Given the description of an element on the screen output the (x, y) to click on. 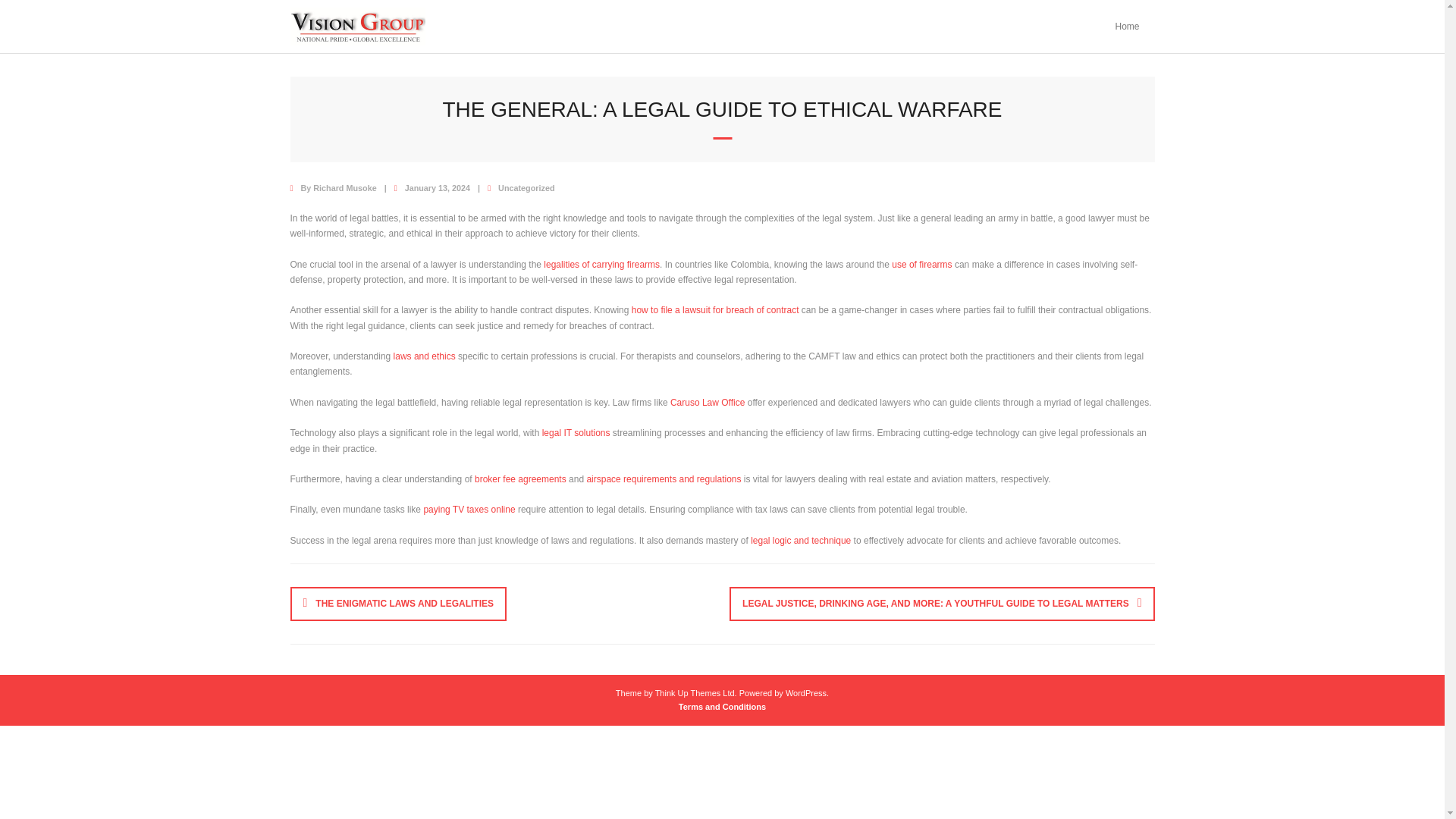
Home (1126, 26)
paying TV taxes online (469, 509)
The General: A Legal Guide to Ethical Warfare (437, 187)
legal logic and technique (800, 540)
View all posts by Richard Musoke (344, 187)
Caruso Law Office (707, 402)
January 13, 2024 (437, 187)
legalities of carrying firearms (601, 264)
THE ENIGMATIC LAWS AND LEGALITIES (397, 603)
use of firearms (921, 264)
